Given the description of an element on the screen output the (x, y) to click on. 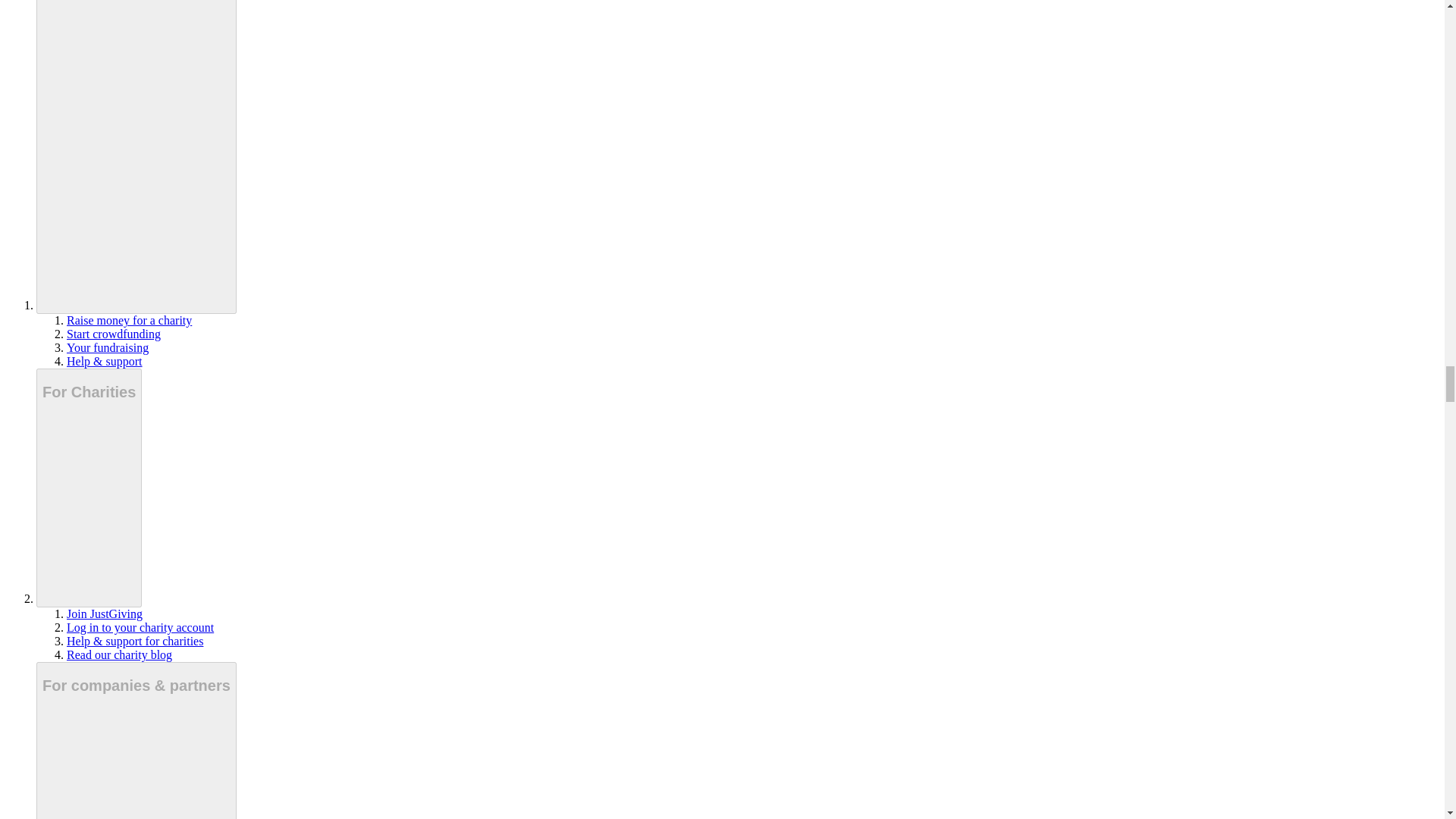
Log in to your charity account (140, 626)
Join JustGiving (104, 613)
Read our charity blog (118, 654)
Raise money for a charity (129, 319)
Start crowdfunding (113, 333)
Your fundraising (107, 347)
